Given the description of an element on the screen output the (x, y) to click on. 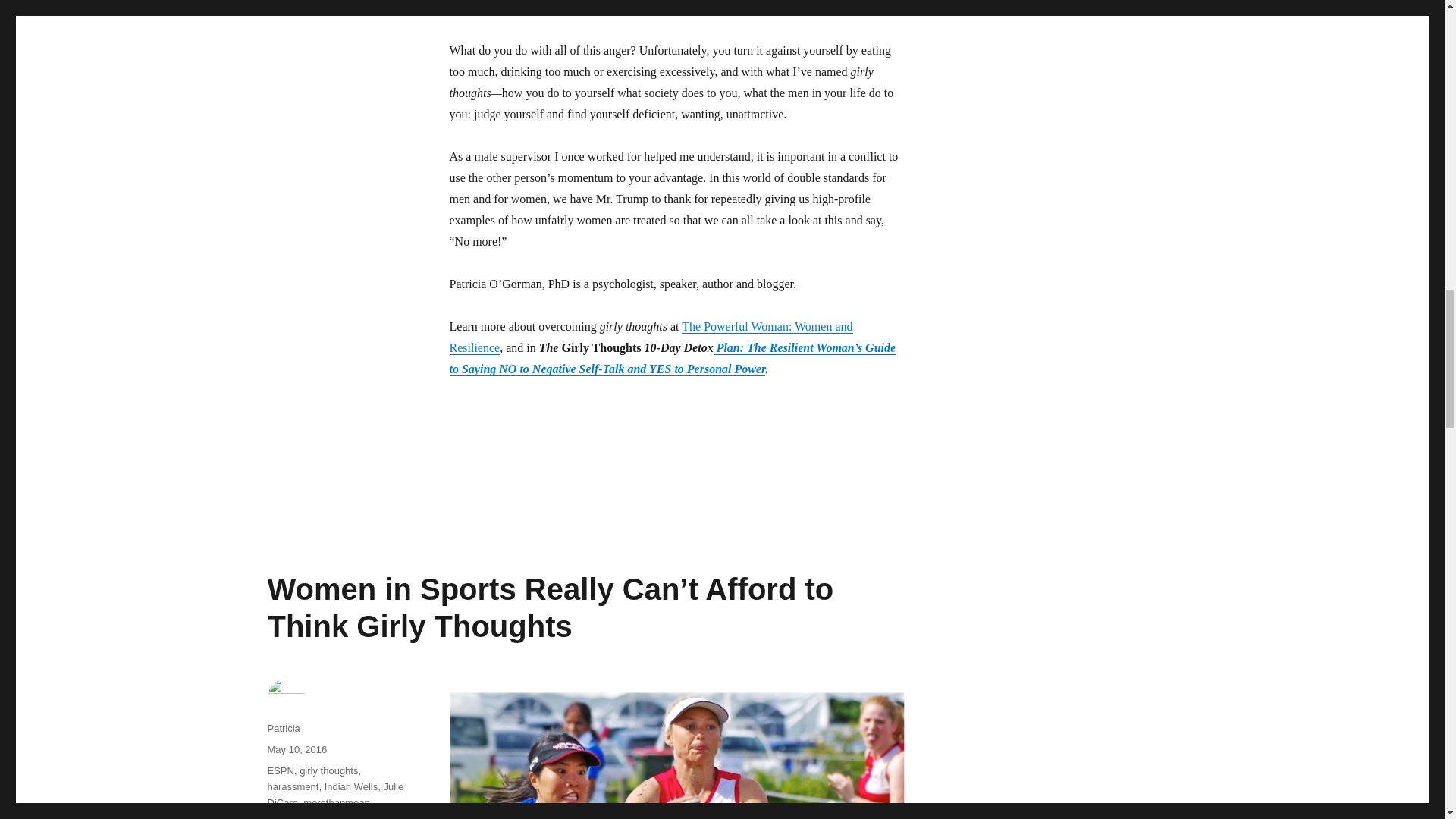
The Powerful Woman: Women and Resilience (649, 336)
Indian Wells (351, 786)
harassment (292, 786)
Patricia (282, 727)
Julie DiCaro (334, 794)
May 10, 2016 (296, 749)
morethanmean (335, 802)
girly thoughts (328, 770)
ESPN (280, 770)
